Given the description of an element on the screen output the (x, y) to click on. 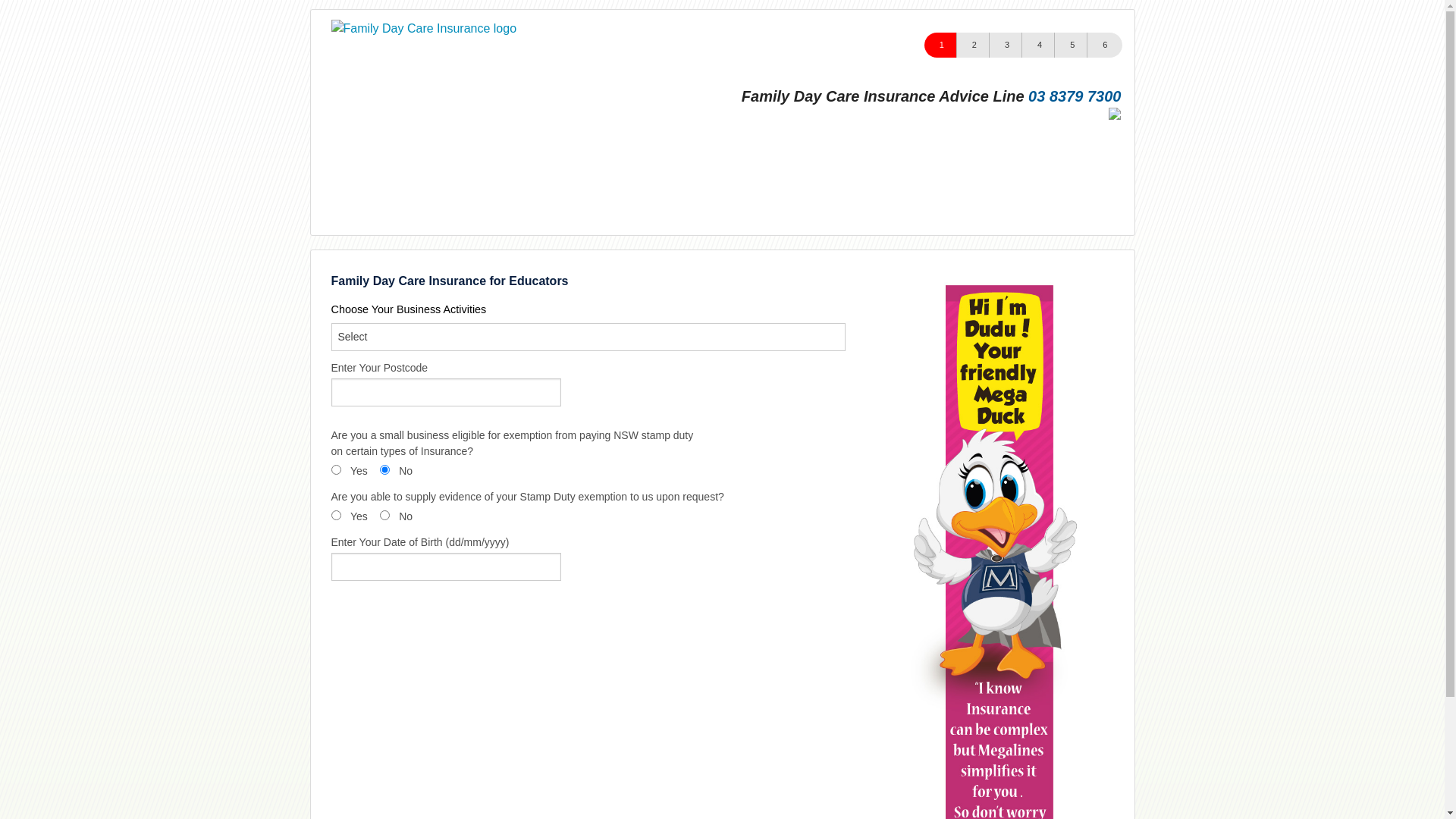
3 Element type: text (1006, 44)
5 Element type: text (1071, 44)
6 Element type: text (1104, 44)
4 Element type: text (1039, 44)
2 Element type: text (973, 44)
Family Day Care Insurance logo Element type: hover (423, 28)
1 Element type: text (941, 44)
